Given the description of an element on the screen output the (x, y) to click on. 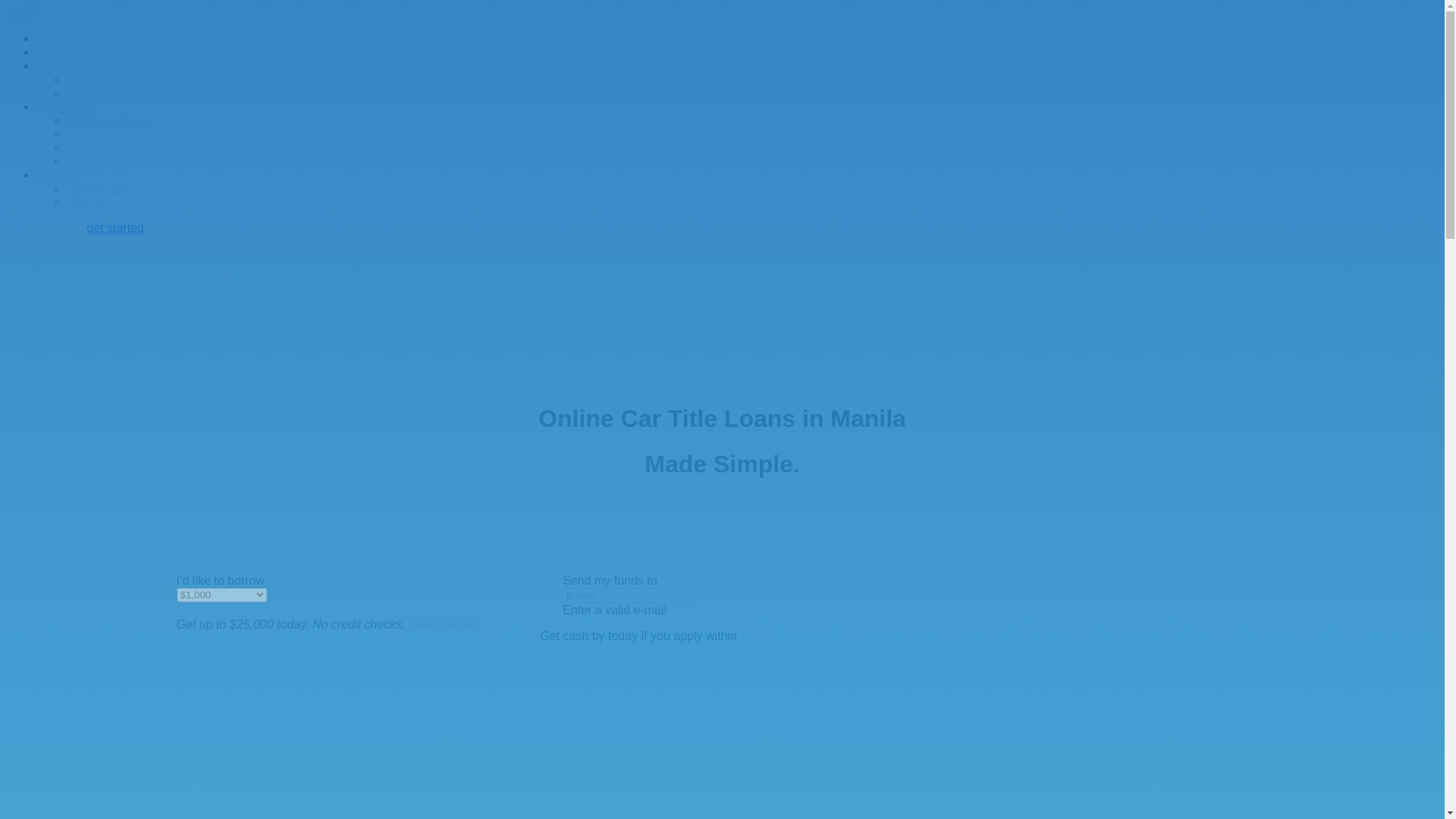
Locations (62, 51)
Arkansas (246, 508)
How it Works (71, 38)
Calculator (93, 133)
Law Book (92, 160)
Contact Us (96, 187)
get started (114, 227)
APPLY NOW (444, 625)
Resources (65, 106)
Terms of Service (111, 92)
